Given the description of an element on the screen output the (x, y) to click on. 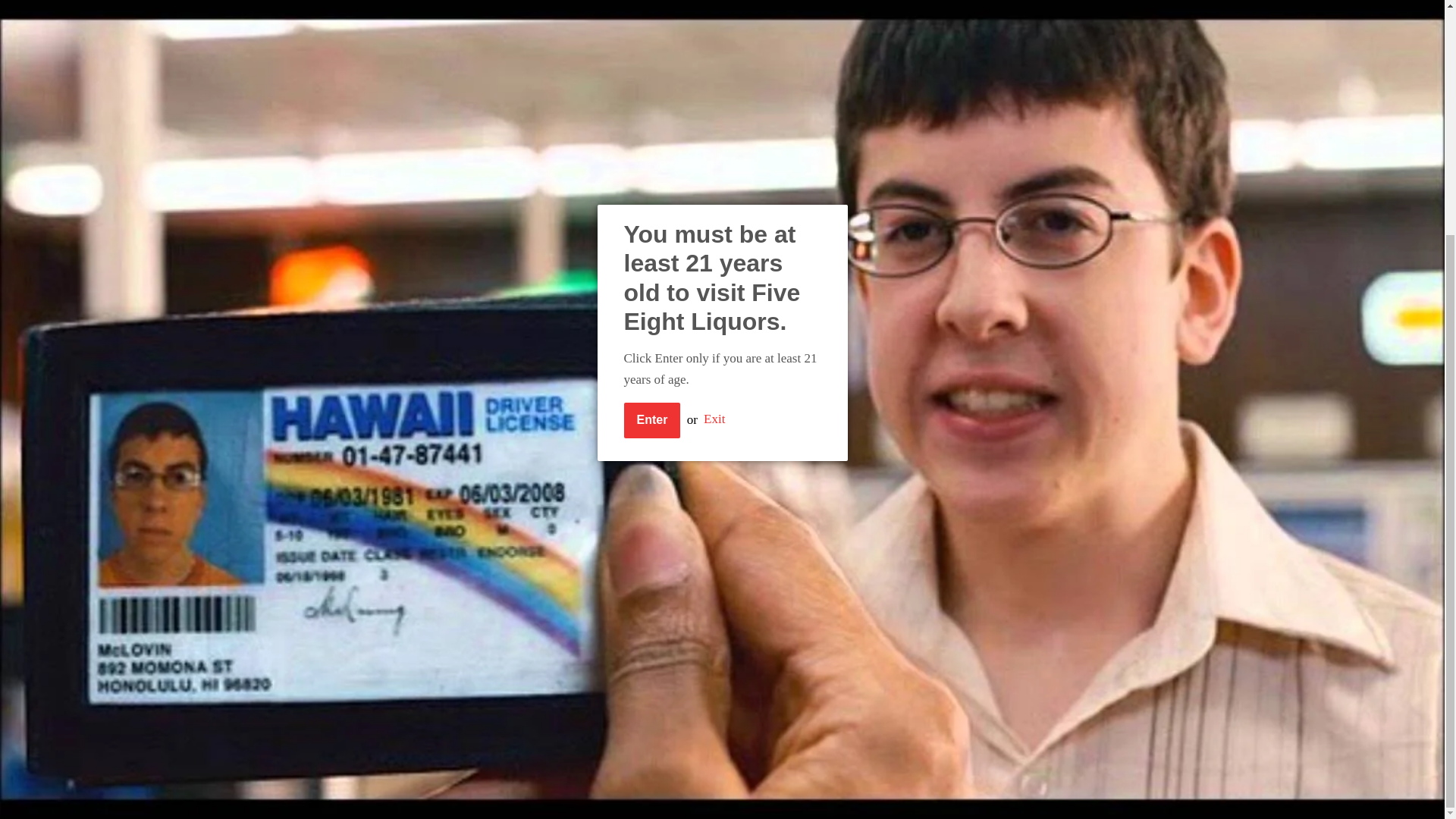
Enter (651, 99)
Exit (714, 99)
